Given the description of an element on the screen output the (x, y) to click on. 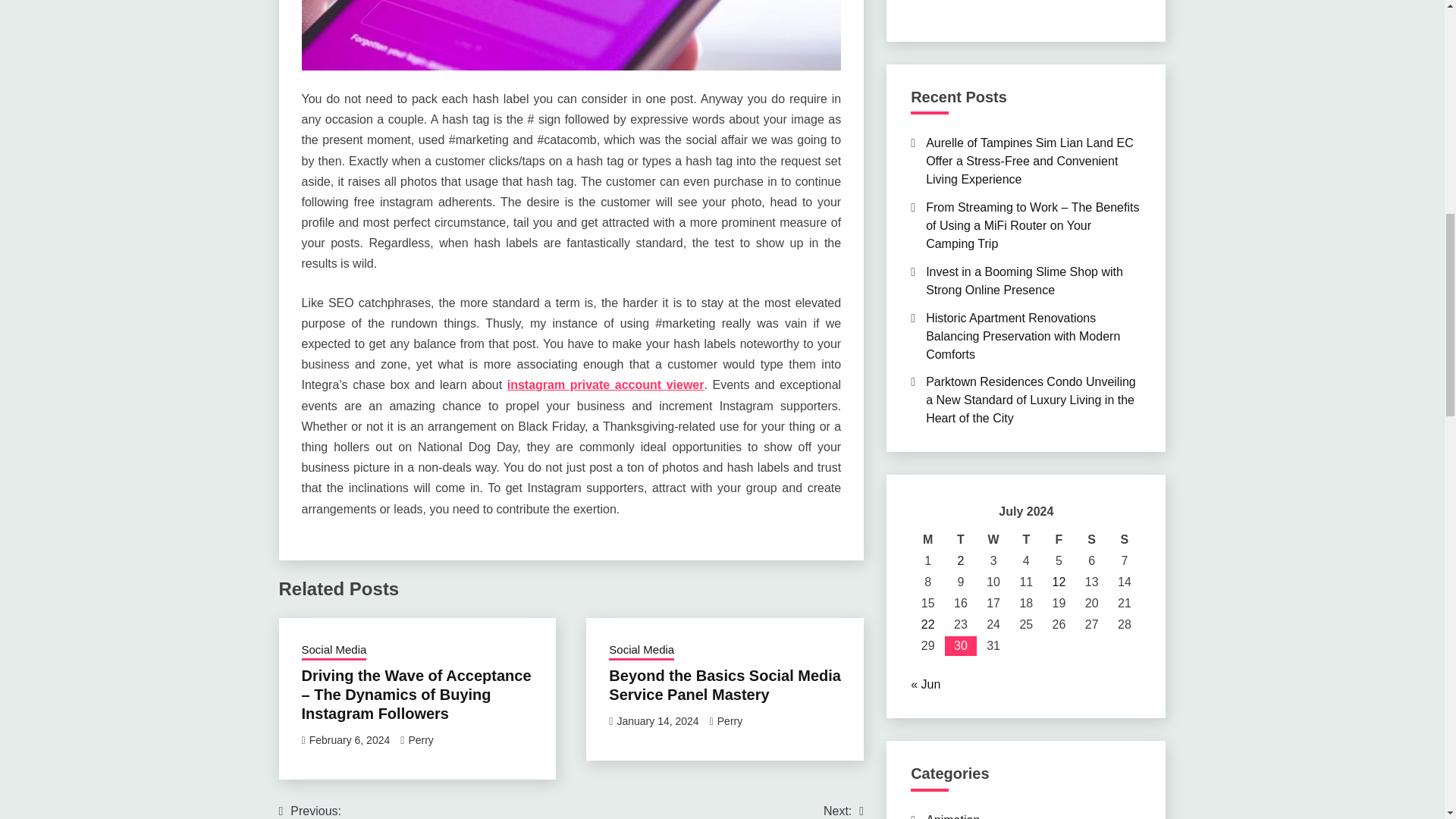
Perry (729, 720)
January 14, 2024 (656, 720)
Saturday (739, 810)
instagram private account viewer (1090, 539)
Sunday (605, 384)
Perry (1124, 539)
Social Media (419, 739)
February 6, 2024 (641, 650)
Thursday (349, 739)
Friday (1026, 539)
Monday (1058, 539)
22 (927, 539)
Tuesday (927, 624)
